Given the description of an element on the screen output the (x, y) to click on. 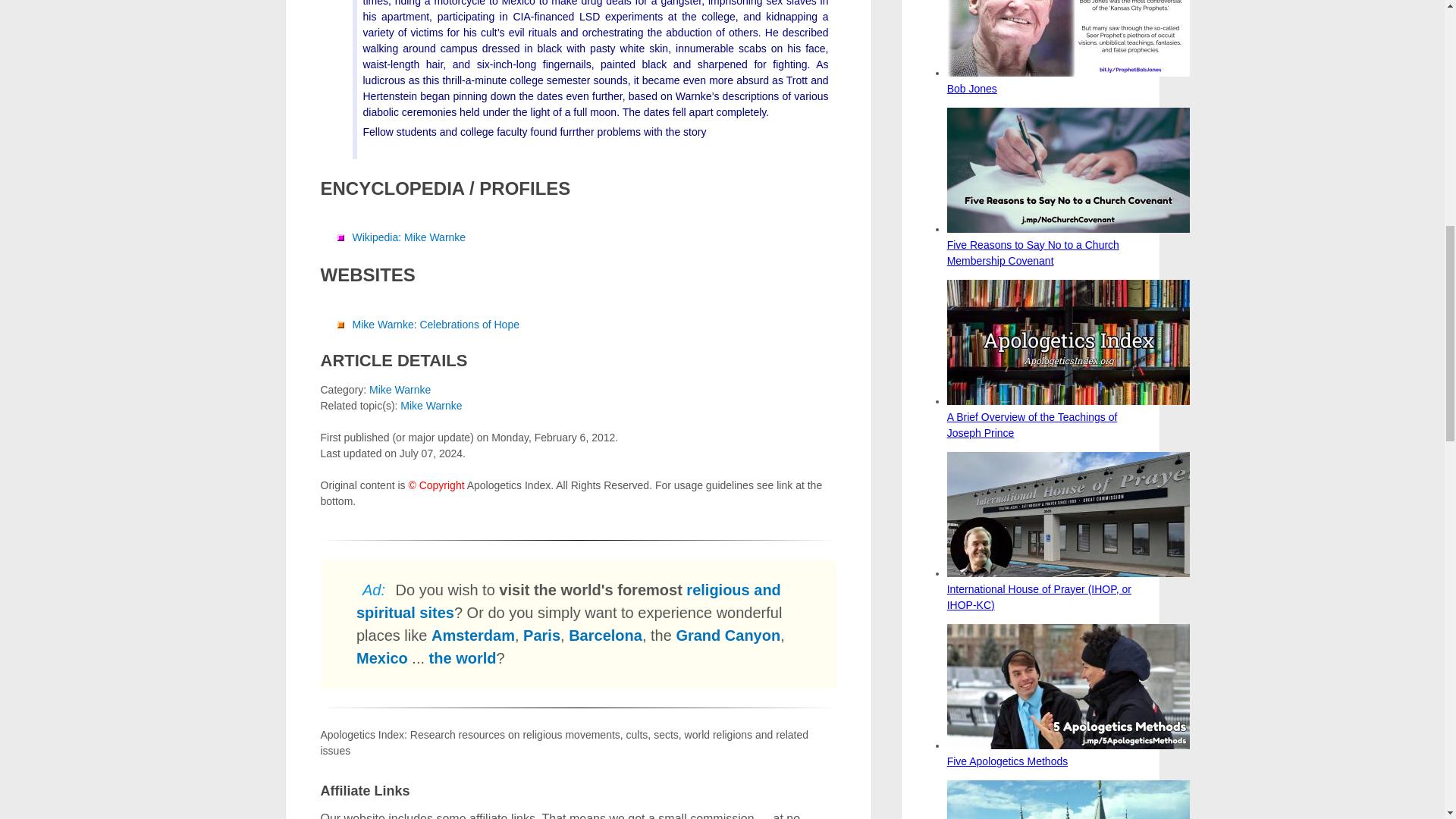
religious and spiritual sites (568, 600)
the world (462, 658)
Barcelona (605, 635)
Mike Warnke (430, 405)
Paris (541, 635)
Wikipedia: Mike Warnke (408, 236)
Mexico (381, 658)
Grand Canyon (727, 635)
Mike Warnke (399, 389)
Mike Warnke: Celebrations of Hope (435, 324)
